Given the description of an element on the screen output the (x, y) to click on. 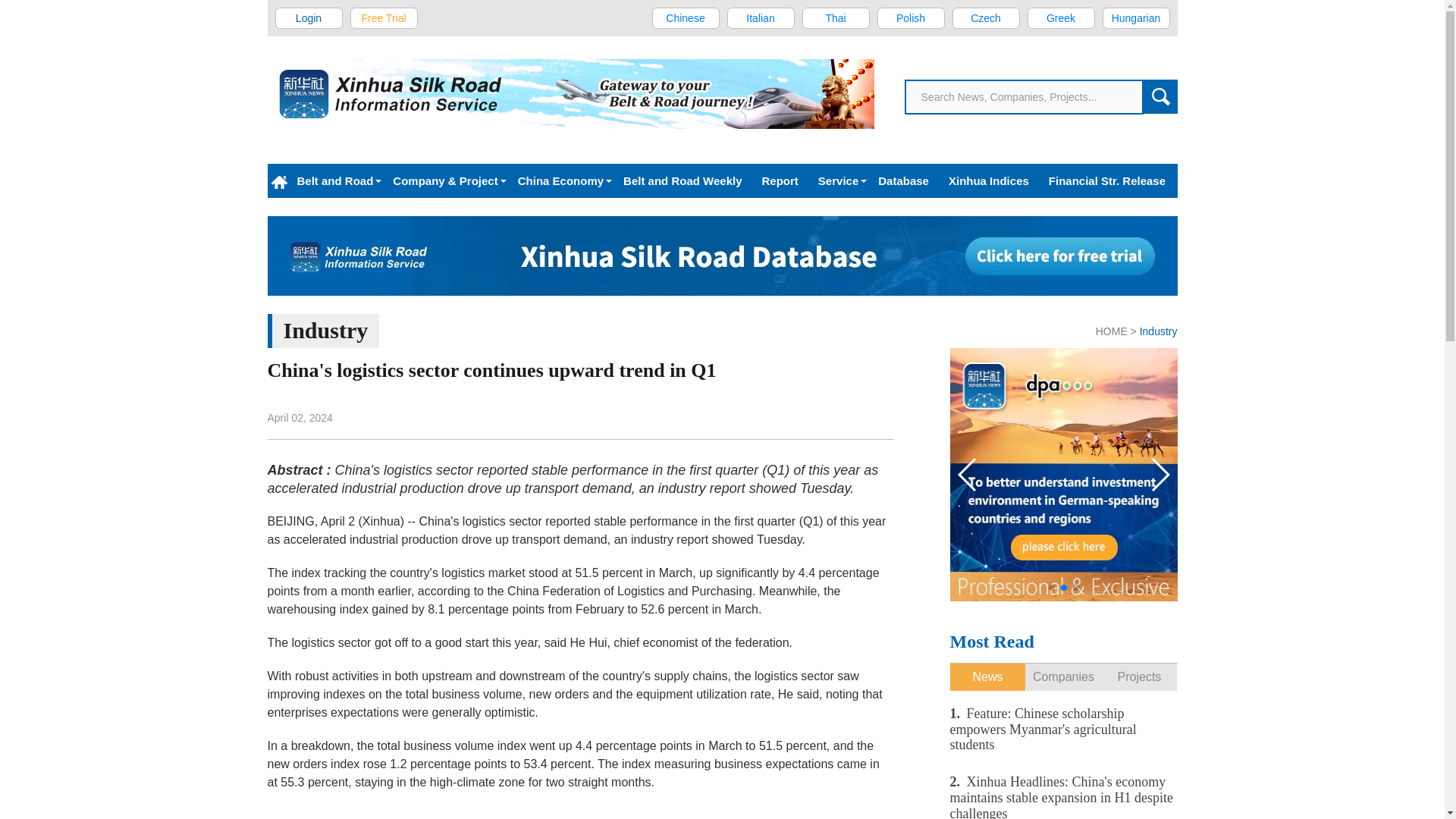
Thai (835, 17)
Czech (986, 17)
one belt one road Free Trial (383, 17)
Login (309, 17)
one belt one road login (309, 17)
Chinese (685, 17)
Xinhua Silk Road Database (721, 255)
Hungarian (1136, 17)
China Economy (560, 180)
Italian (759, 17)
Polish (909, 17)
Belt and Road (334, 180)
Free Trial (383, 17)
